Given the description of an element on the screen output the (x, y) to click on. 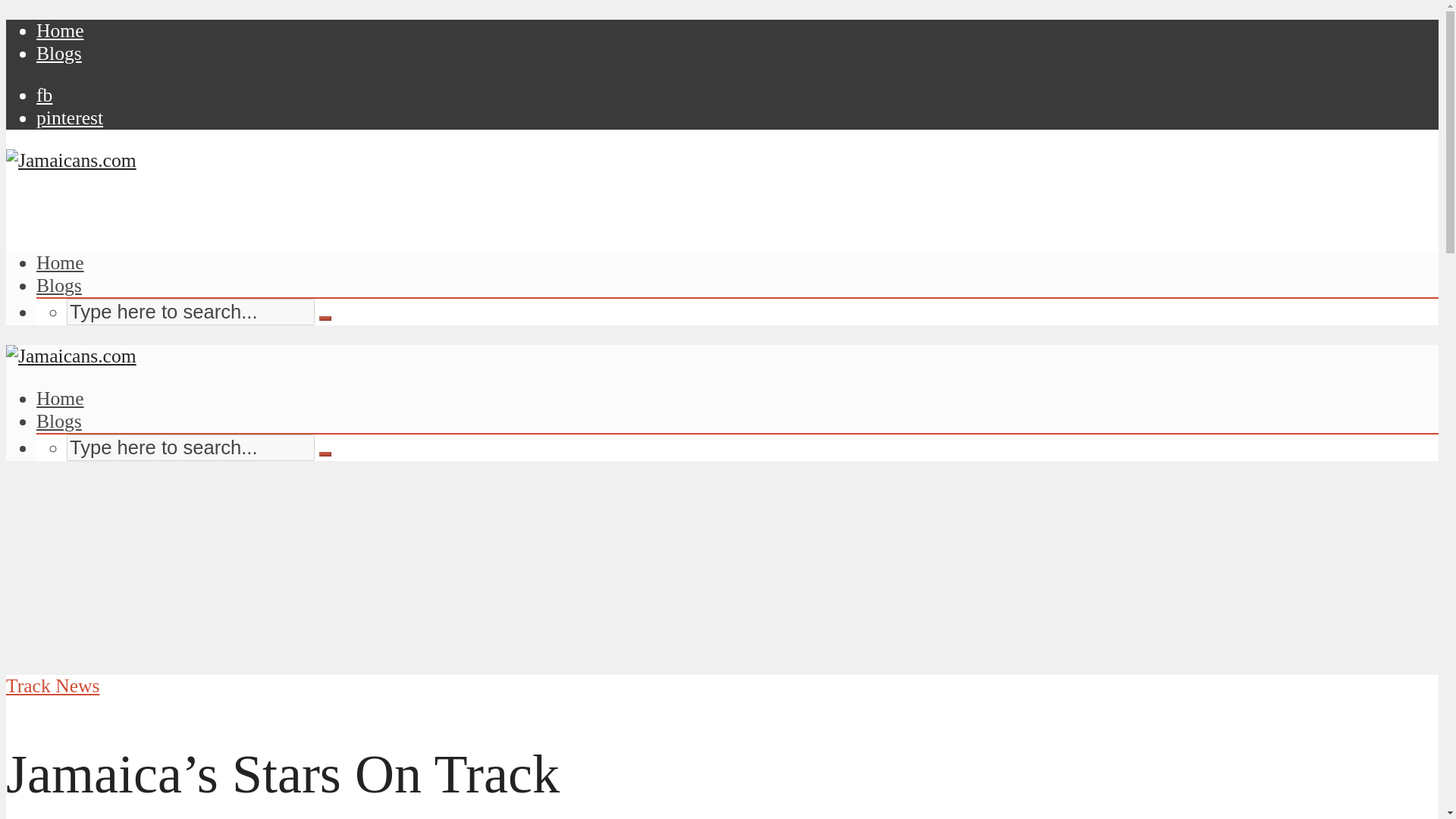
Track News (52, 685)
Type here to search... (190, 311)
Home (60, 262)
Type here to search... (190, 311)
Home (60, 398)
Blogs (58, 285)
pinterest (69, 117)
Blogs (58, 421)
Blogs (58, 53)
Type here to search... (190, 447)
